Given the description of an element on the screen output the (x, y) to click on. 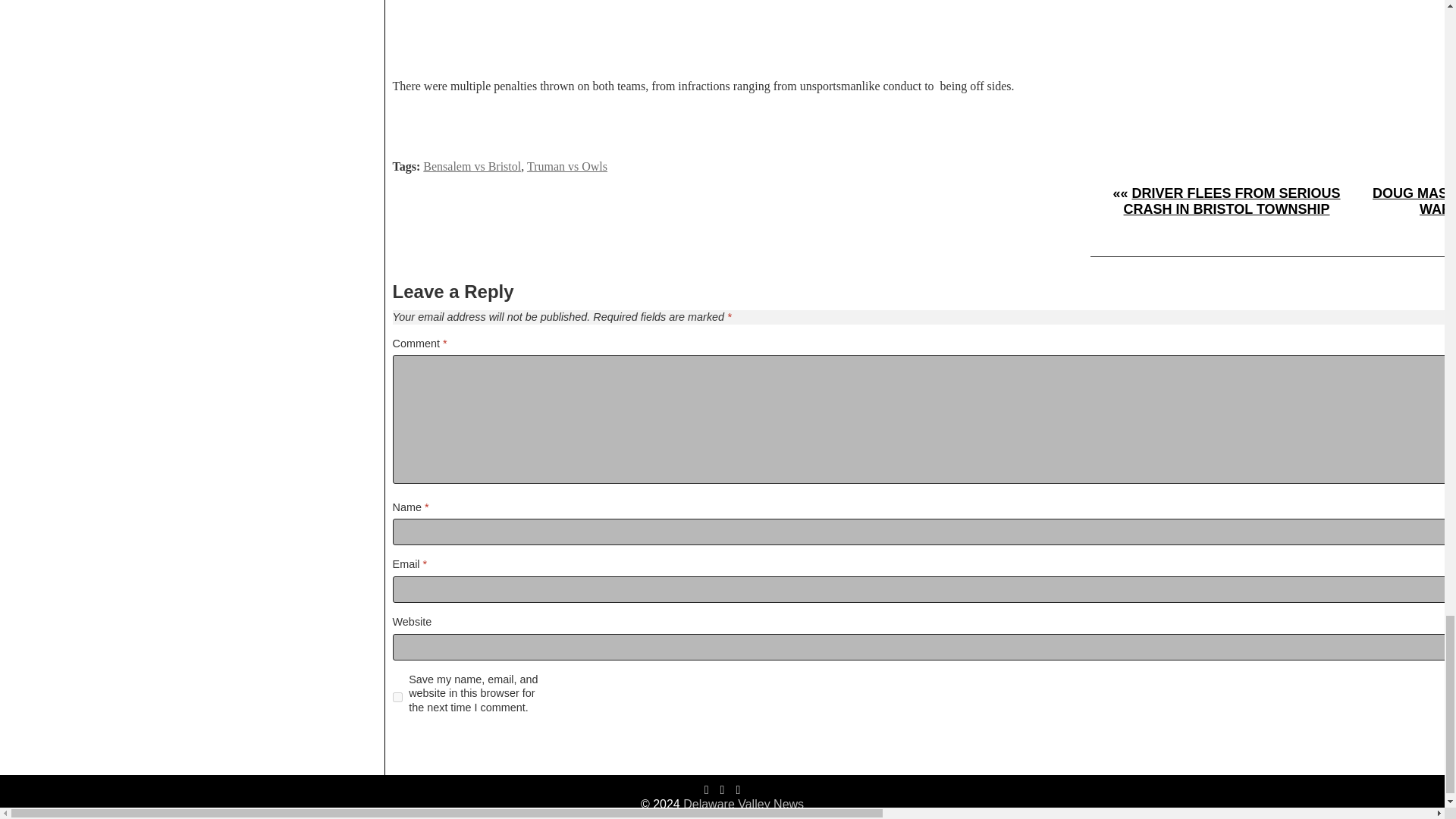
DRIVER FLEES FROM SERIOUS CRASH IN BRISTOL TOWNSHIP (1232, 201)
Bensalem vs Bristol (472, 165)
DOUG MASTRIANO INVITES MEDIA TO WARMINSTER RALLY (1414, 201)
Truman vs Owls (567, 165)
